Given the description of an element on the screen output the (x, y) to click on. 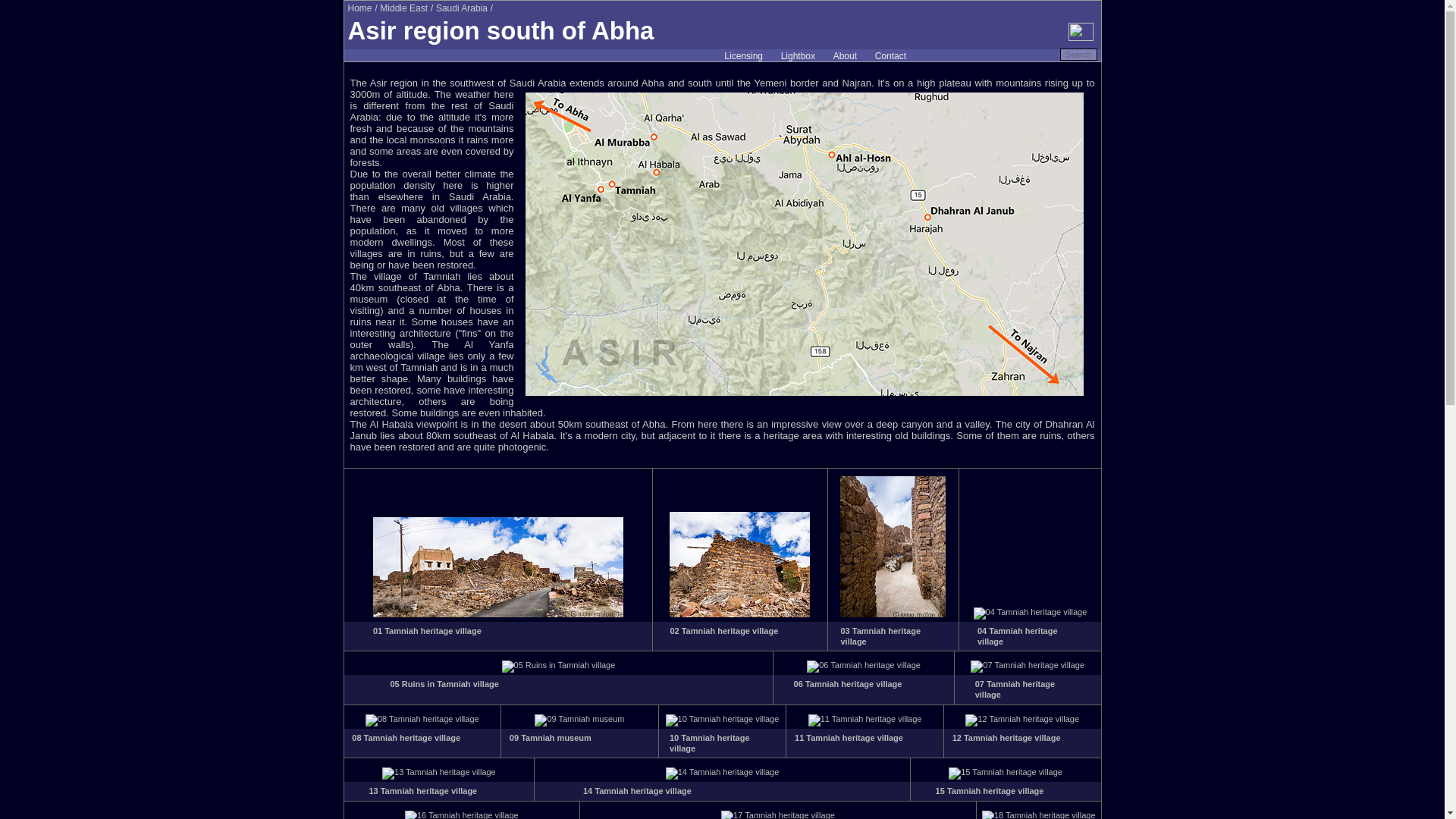
View all images in the current selection (797, 55)
Search (1078, 54)
Image SA98789 - click to enlarge (1030, 611)
Contact (890, 55)
Image SA98791 - click to enlarge (863, 664)
Image SA98795 - click to enlarge (721, 718)
06 Tamniah heritage village (847, 683)
Image SA98794 - click to enlarge (579, 718)
Image SA98798 - click to enlarge (438, 771)
Licensing (743, 55)
